Given the description of an element on the screen output the (x, y) to click on. 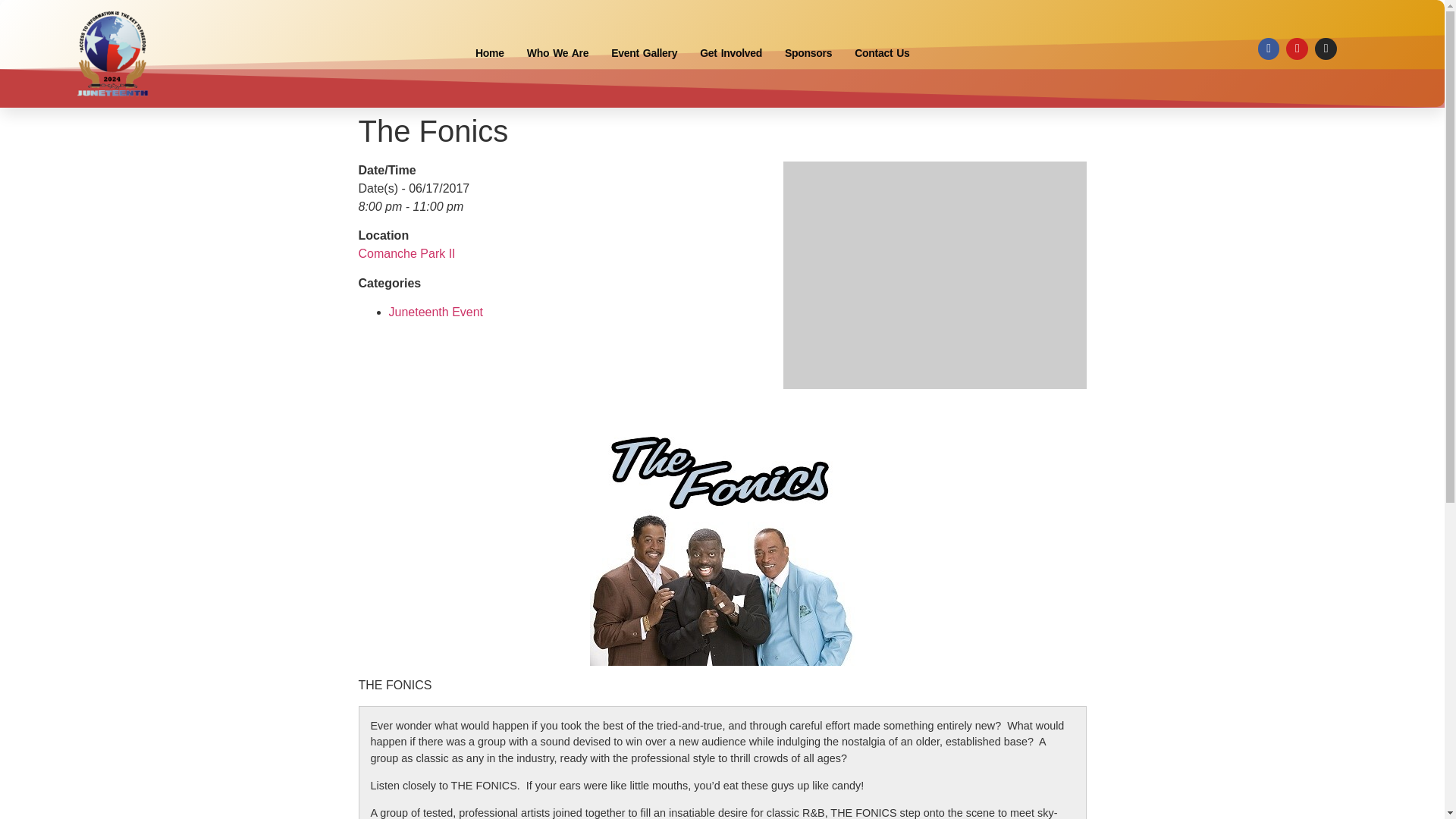
Home (489, 53)
Get Involved (730, 53)
Sponsors (808, 53)
Contact Us (881, 53)
Juneteenth Event (435, 311)
Comanche Park II (406, 253)
Who We Are (557, 53)
Event Gallery (643, 53)
